Given the description of an element on the screen output the (x, y) to click on. 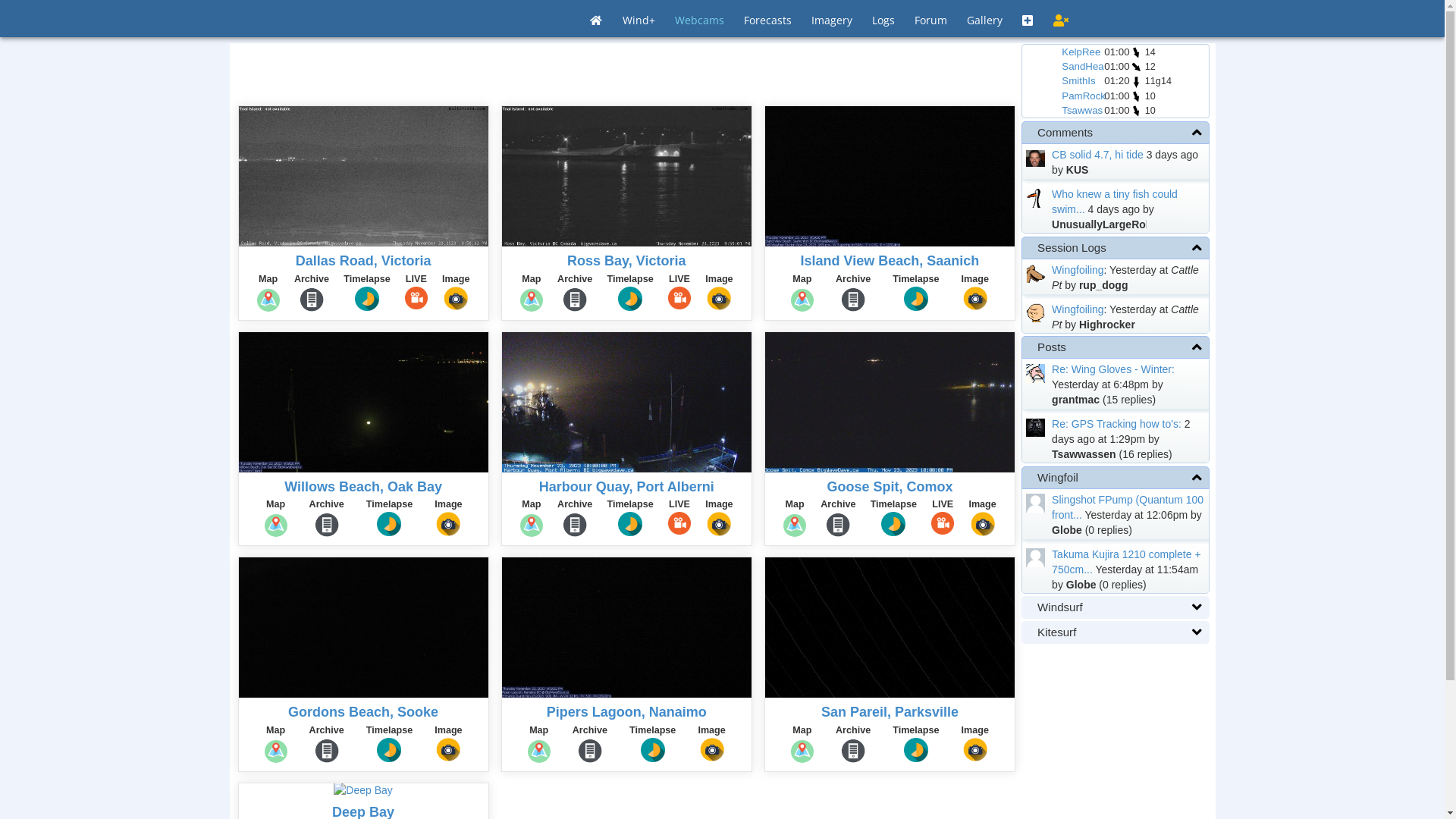
Webcam Image Element type: hover (363, 632)
View Profile Element type: hover (1035, 158)
NNW Element type: hover (1136, 52)
N Element type: hover (1136, 81)
Willows Beach, Oak Bay Element type: text (363, 486)
Live Webcam Element type: hover (889, 407)
NW Element type: hover (1136, 66)
Dallas Road, Victoria Element type: text (363, 260)
San Pareil, Parksville Element type: text (889, 711)
SandHea Element type: text (1082, 66)
View Profile Element type: hover (1035, 197)
Ross Bay, Victoria Element type: text (626, 260)
View Profile Element type: hover (1035, 557)
View Profile Element type: hover (1035, 312)
Gordons Beach, Sooke Element type: text (363, 711)
SmithIs Element type: text (1078, 80)
Island View Beach, Saanich Element type: text (889, 260)
Live Webcam Element type: hover (626, 407)
View Profile Element type: hover (1035, 272)
NNW Element type: hover (1136, 110)
NNW Element type: hover (1136, 96)
KelpRee Element type: text (1080, 51)
View Profile Element type: hover (1035, 373)
Harbour Quay, Port Alberni Element type: text (626, 486)
Webcam Image Element type: hover (626, 632)
Advertisement Element type: hover (627, 73)
Webcam Image Element type: hover (889, 632)
View Profile Element type: hover (1035, 502)
PamRock Element type: text (1083, 95)
Webcam Image Element type: hover (363, 795)
Goose Spit, Comox Element type: text (889, 486)
Webcam Image Element type: hover (889, 181)
View Profile Element type: hover (1035, 427)
Tsawwas Element type: text (1081, 110)
Live Webcam Element type: hover (626, 181)
Webcam Image Element type: hover (363, 407)
Live Webcam Element type: hover (363, 181)
Pipers Lagoon, Nanaimo Element type: text (626, 711)
